Given the description of an element on the screen output the (x, y) to click on. 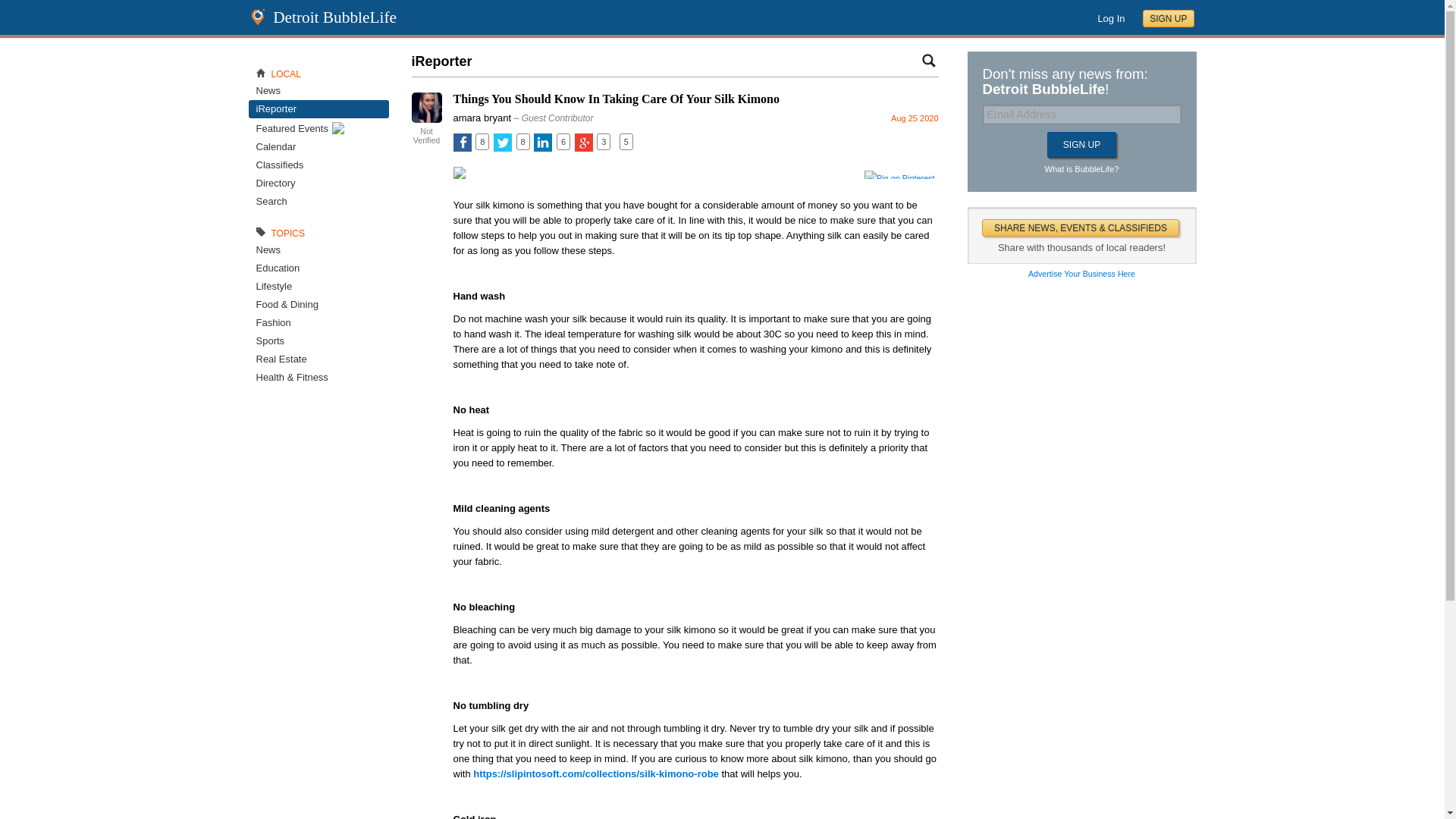
Already have a BubbleLife account? (1110, 18)
Sign up for free (1167, 18)
Log In (1110, 18)
SIGN UP (1167, 18)
Things You Should Know In Taking Care Of Your Silk Kimono (615, 99)
Sign Up (427, 135)
Detroit BubbleLife (1081, 144)
